Given the description of an element on the screen output the (x, y) to click on. 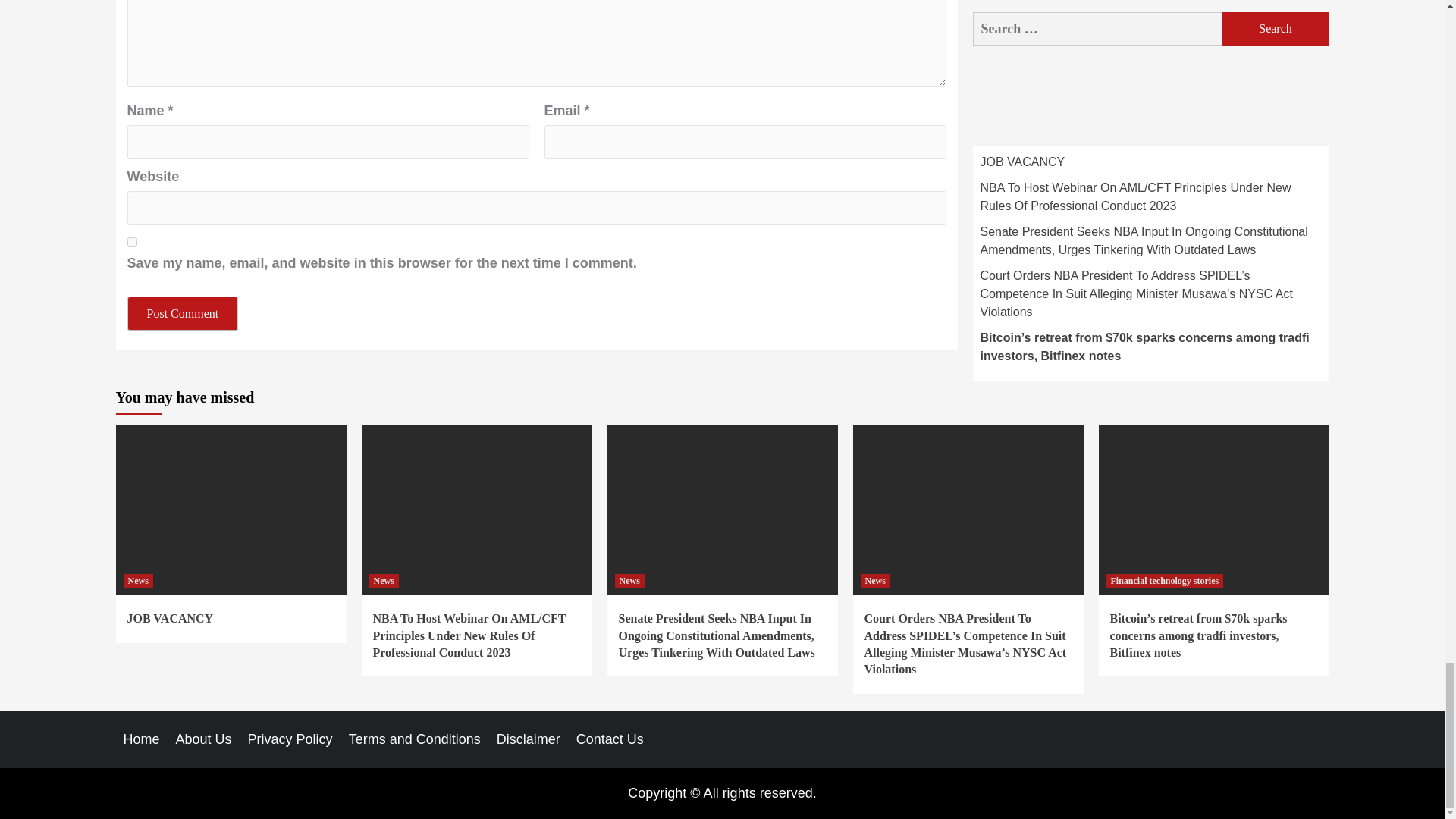
Post Comment (183, 313)
yes (132, 242)
